Given the description of an element on the screen output the (x, y) to click on. 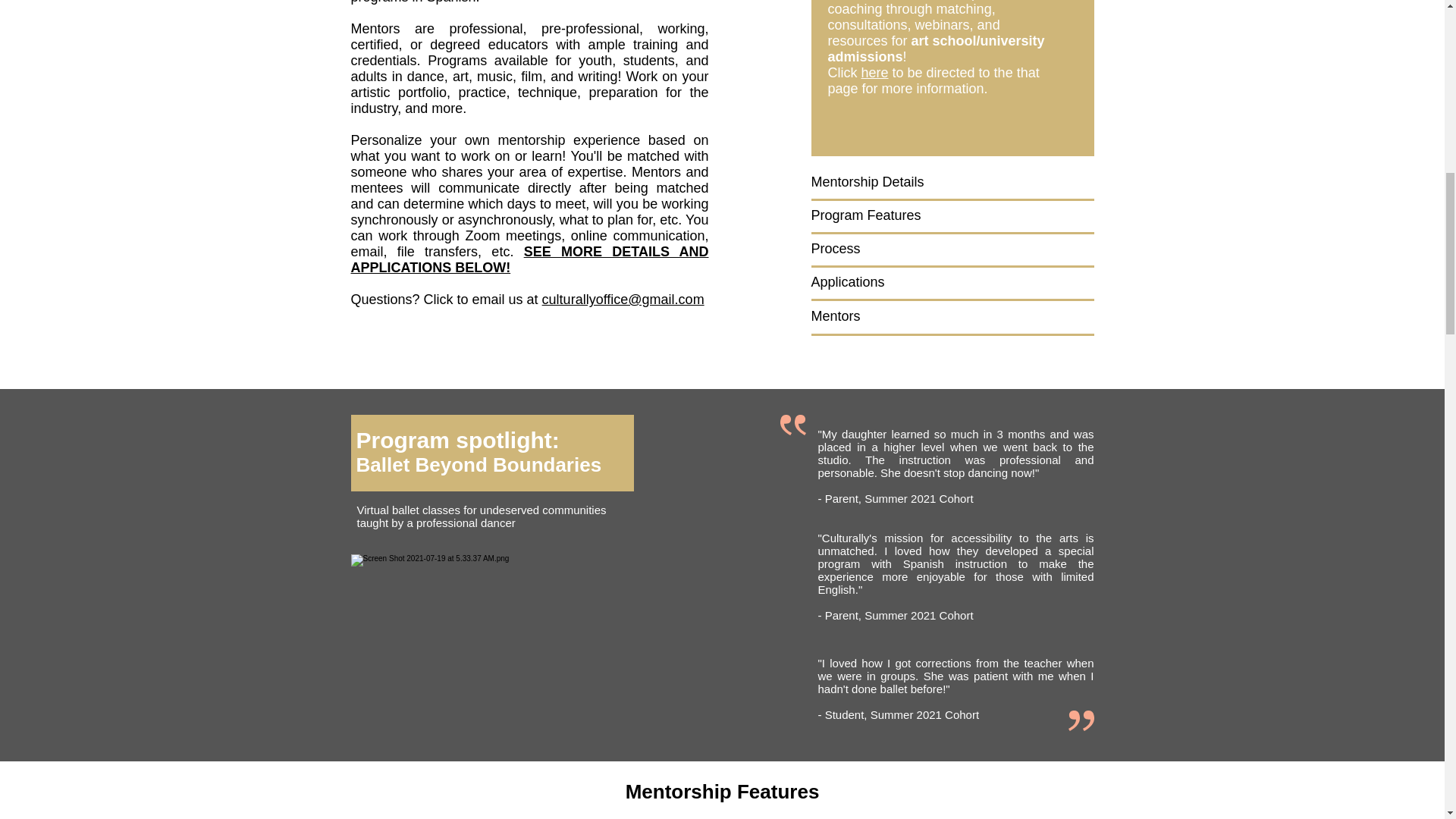
Applications (847, 281)
Process (835, 248)
Mentorship Details (867, 181)
Program Features (865, 215)
